Given the description of an element on the screen output the (x, y) to click on. 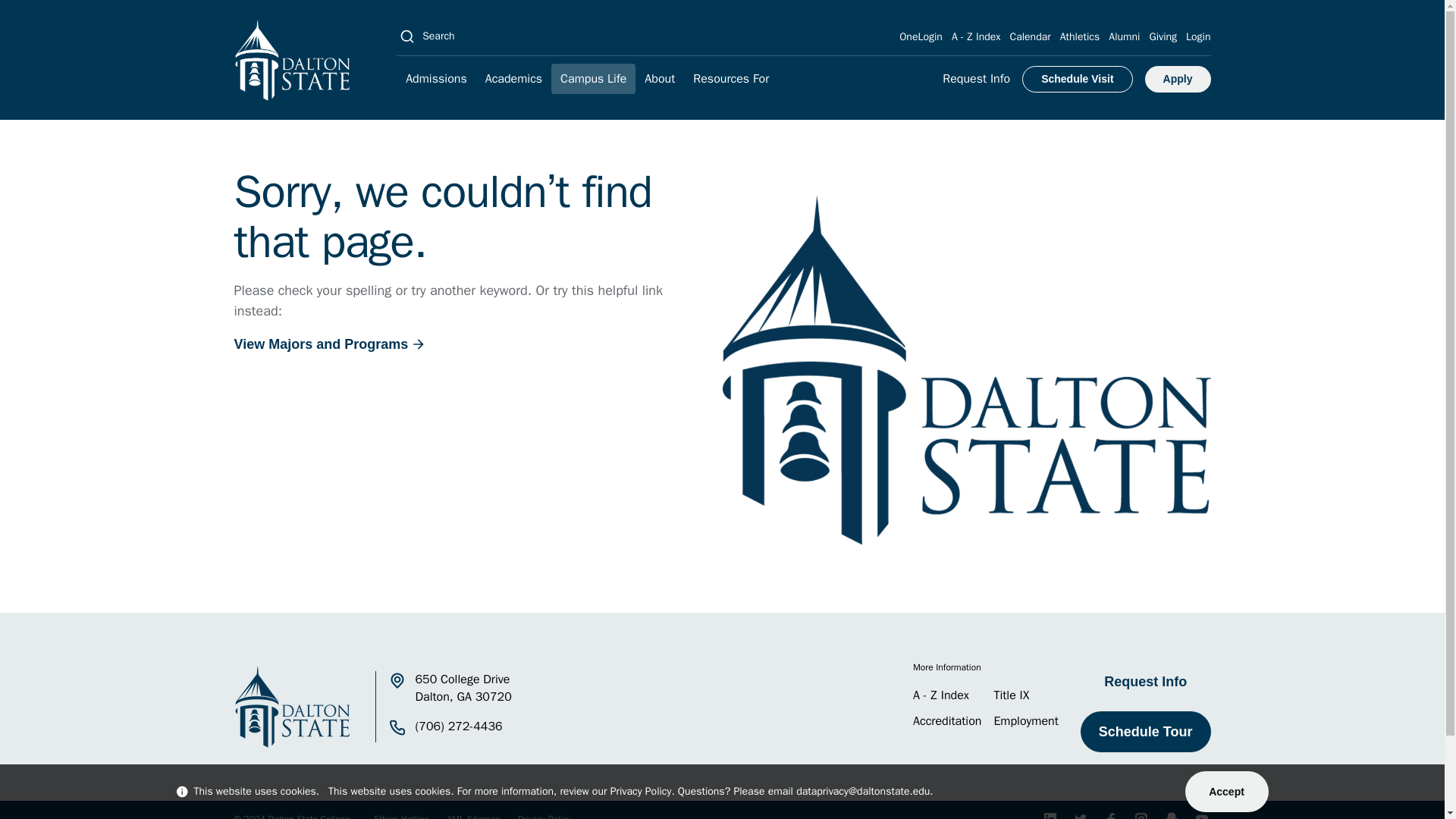
OneLogin (920, 36)
Admissions (436, 78)
Accept (1226, 791)
A - Z Index (976, 36)
Athletics (1079, 36)
Alumni (1124, 36)
Login (1197, 36)
Privacy Policy (640, 790)
Calendar (1030, 36)
Giving (1162, 36)
